Given the description of an element on the screen output the (x, y) to click on. 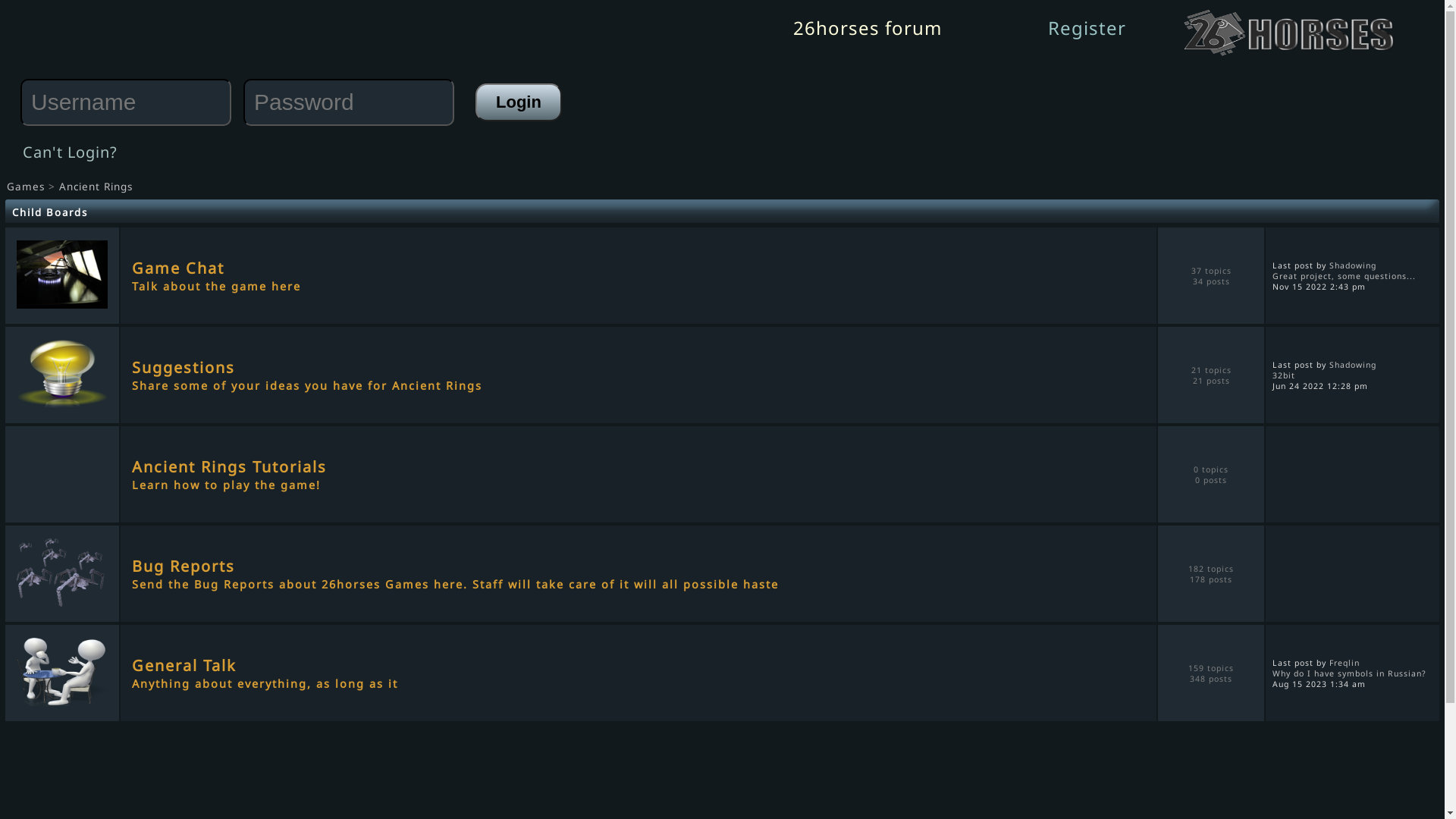
Great project, some questions... Element type: text (1343, 274)
Ancient Rings Element type: text (95, 186)
32bit Element type: text (1283, 375)
26horses forum Element type: text (867, 27)
Game Chat
Talk about the game here Element type: text (649, 275)
Shadowing Element type: text (1352, 264)
Ancient Rings Tutorials
Learn how to play the game! Element type: text (649, 474)
Freqlin Element type: text (1344, 661)
Shadowing Element type: text (1352, 364)
Games Element type: text (25, 186)
General Talk
Anything about everything, as long as it Element type: text (649, 672)
Login Element type: text (518, 102)
Can't Login? Element type: text (69, 151)
Register Element type: text (1087, 27)
Why do I have symbols in Russian? Element type: text (1349, 672)
